Given the description of an element on the screen output the (x, y) to click on. 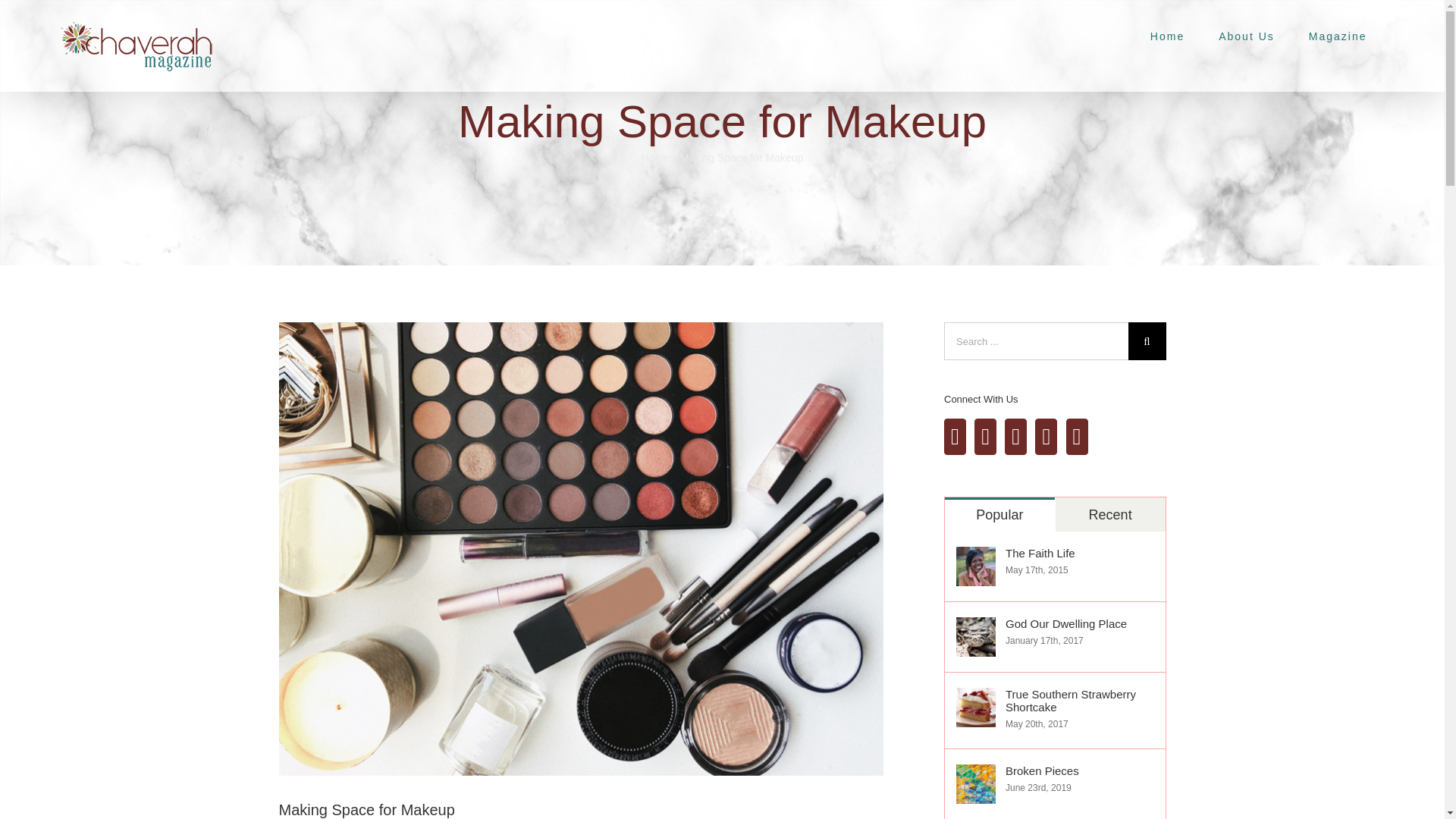
About Us (1247, 36)
Home (655, 157)
Magazine (1337, 36)
Home (1166, 36)
